Given the description of an element on the screen output the (x, y) to click on. 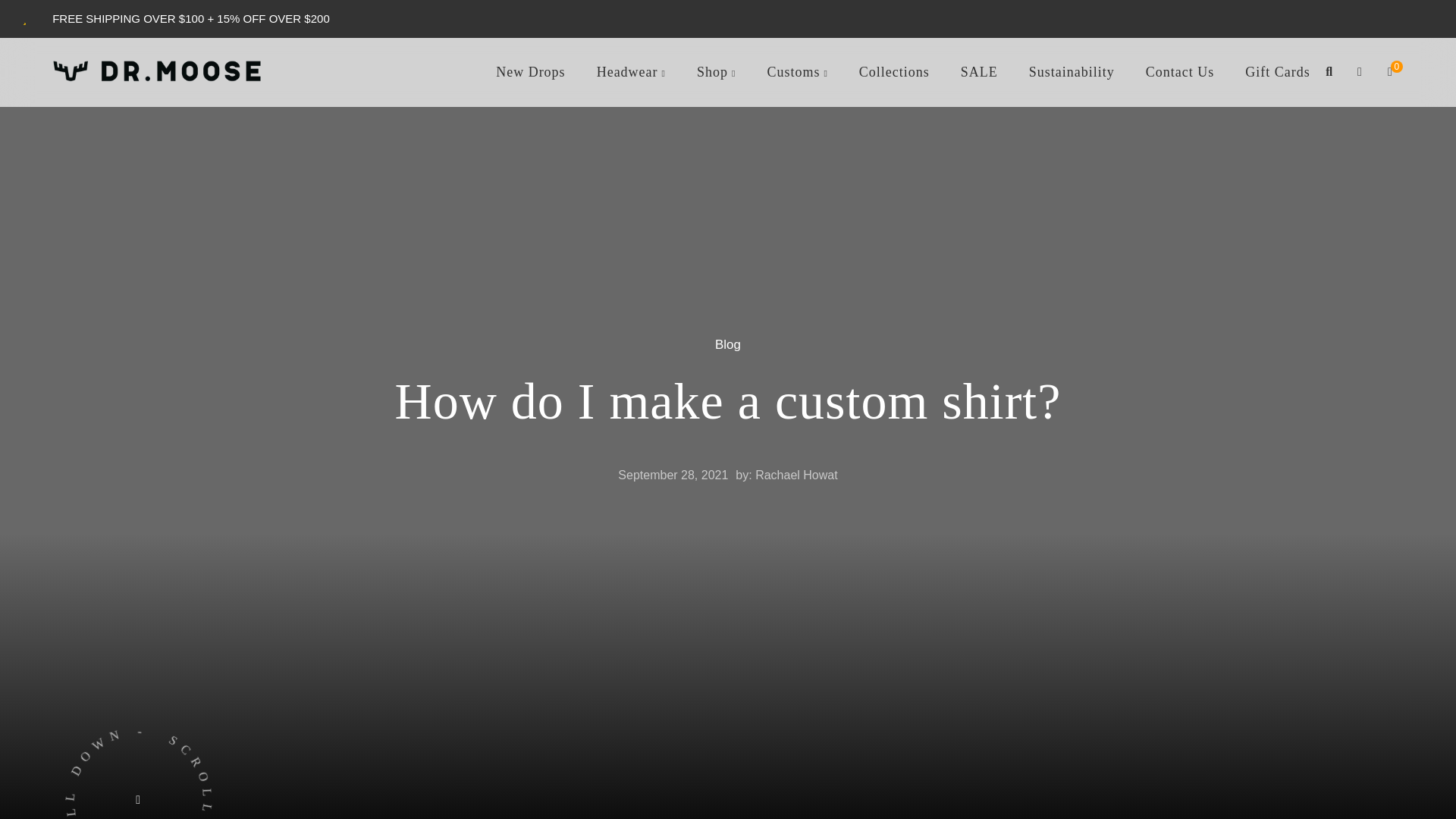
Shop (716, 0)
View all posts by Rachael Howat (796, 474)
Customs (796, 0)
